Given the description of an element on the screen output the (x, y) to click on. 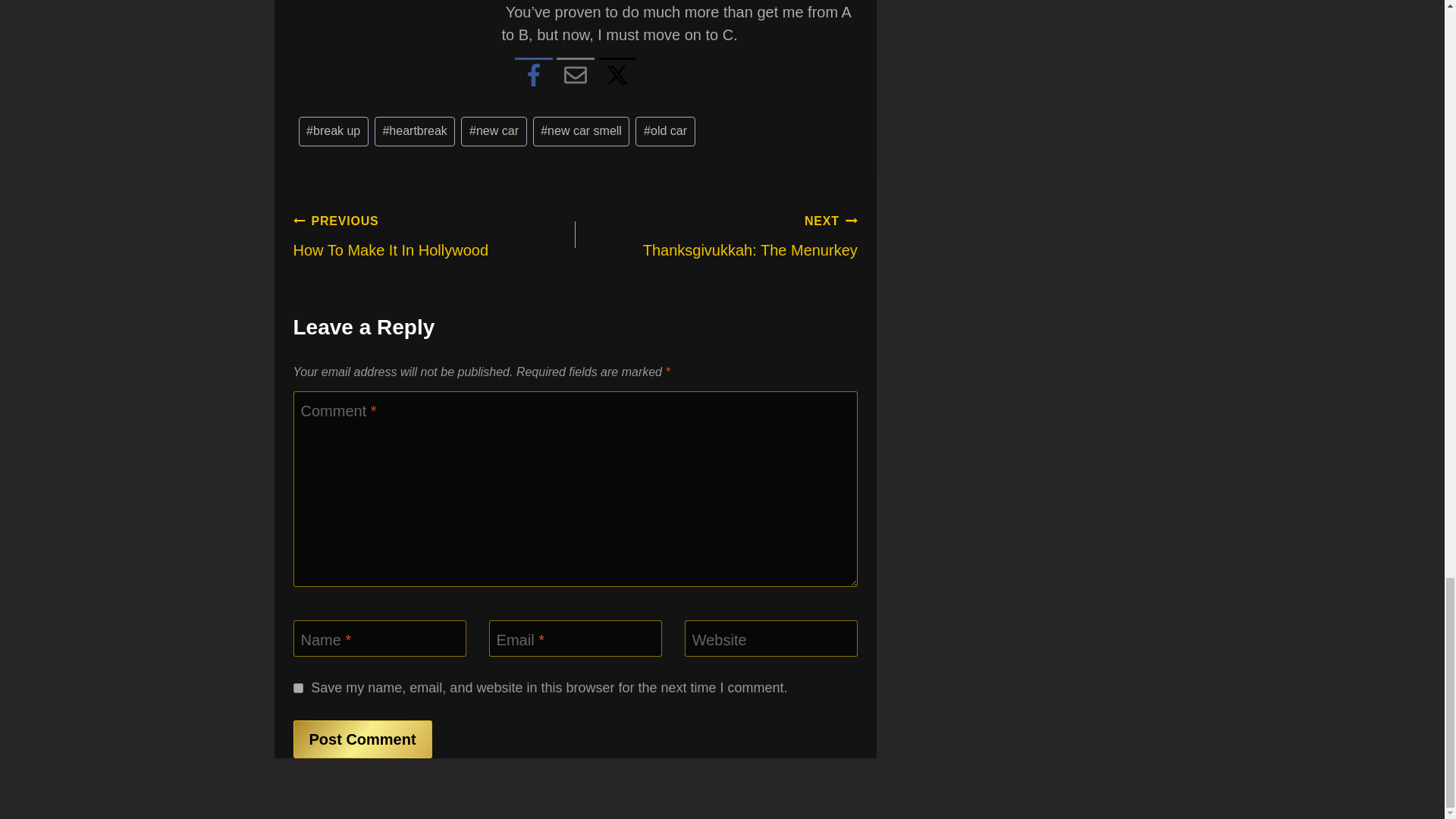
Post Comment (361, 739)
break up (333, 131)
new car (433, 234)
new car smell (493, 131)
heartbreak (581, 131)
yes (716, 234)
Post Comment (414, 131)
old car (297, 687)
